Given the description of an element on the screen output the (x, y) to click on. 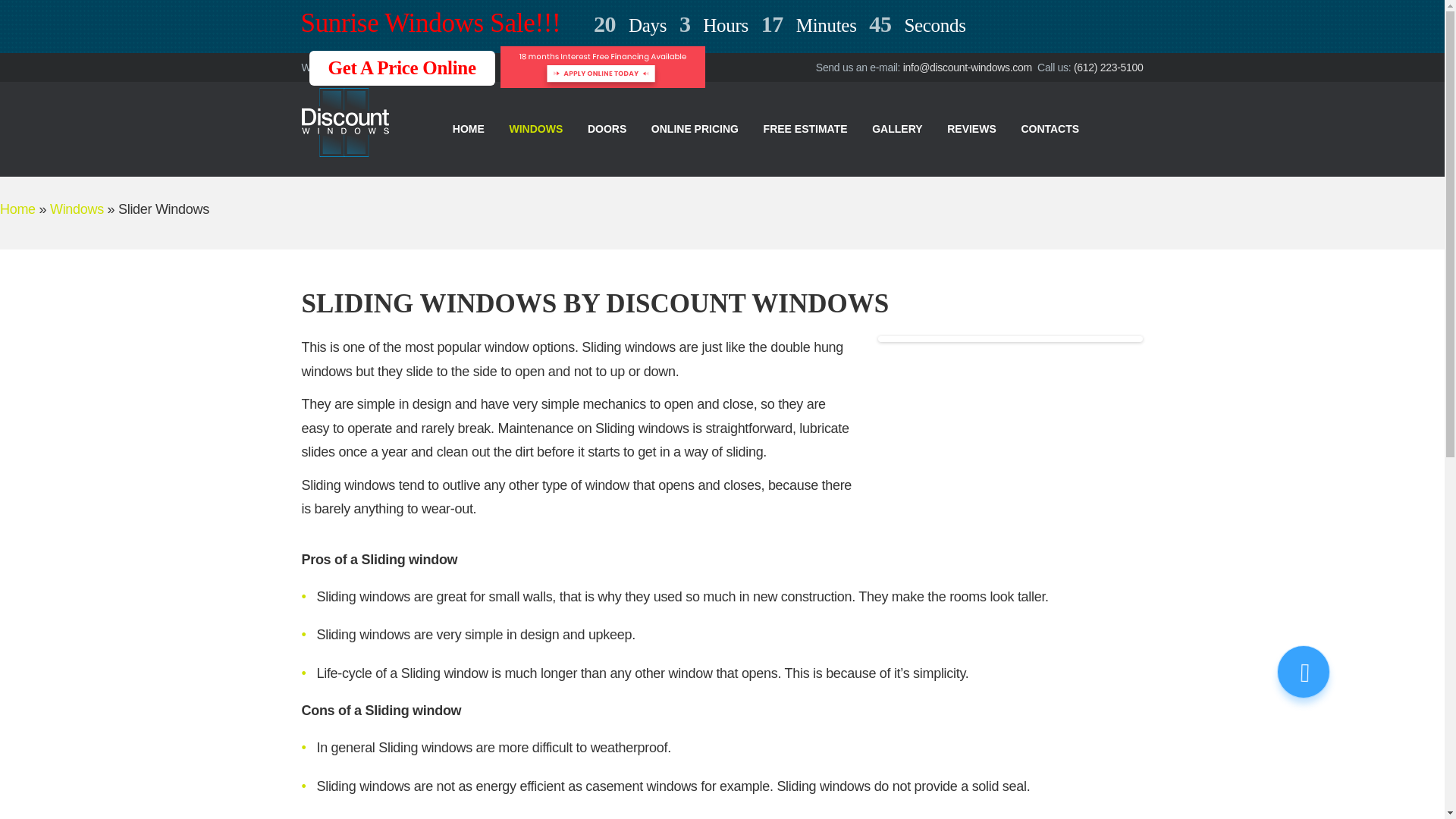
Home (17, 209)
Windows (76, 209)
GALLERY (897, 129)
REVIEWS (971, 129)
FREE ESTIMATE (805, 129)
WINDOWS (535, 129)
ONLINE PRICING (695, 129)
CONTACTS (1049, 129)
